Given the description of an element on the screen output the (x, y) to click on. 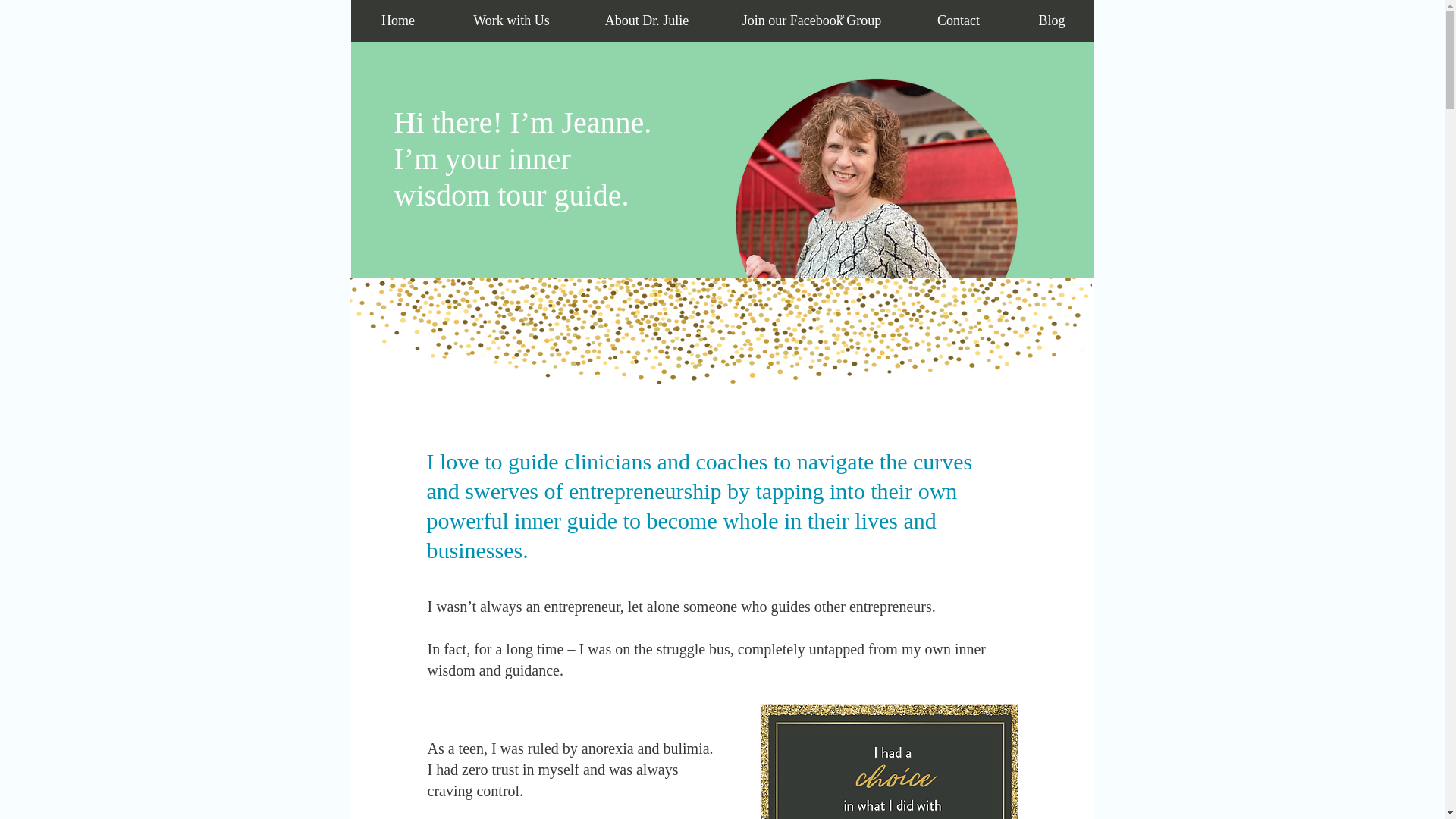
Contact (958, 20)
Blog (1052, 20)
Home (397, 20)
Join our Facebook Group (811, 20)
About Dr. Julie (647, 20)
Work with Us (511, 20)
